Given the description of an element on the screen output the (x, y) to click on. 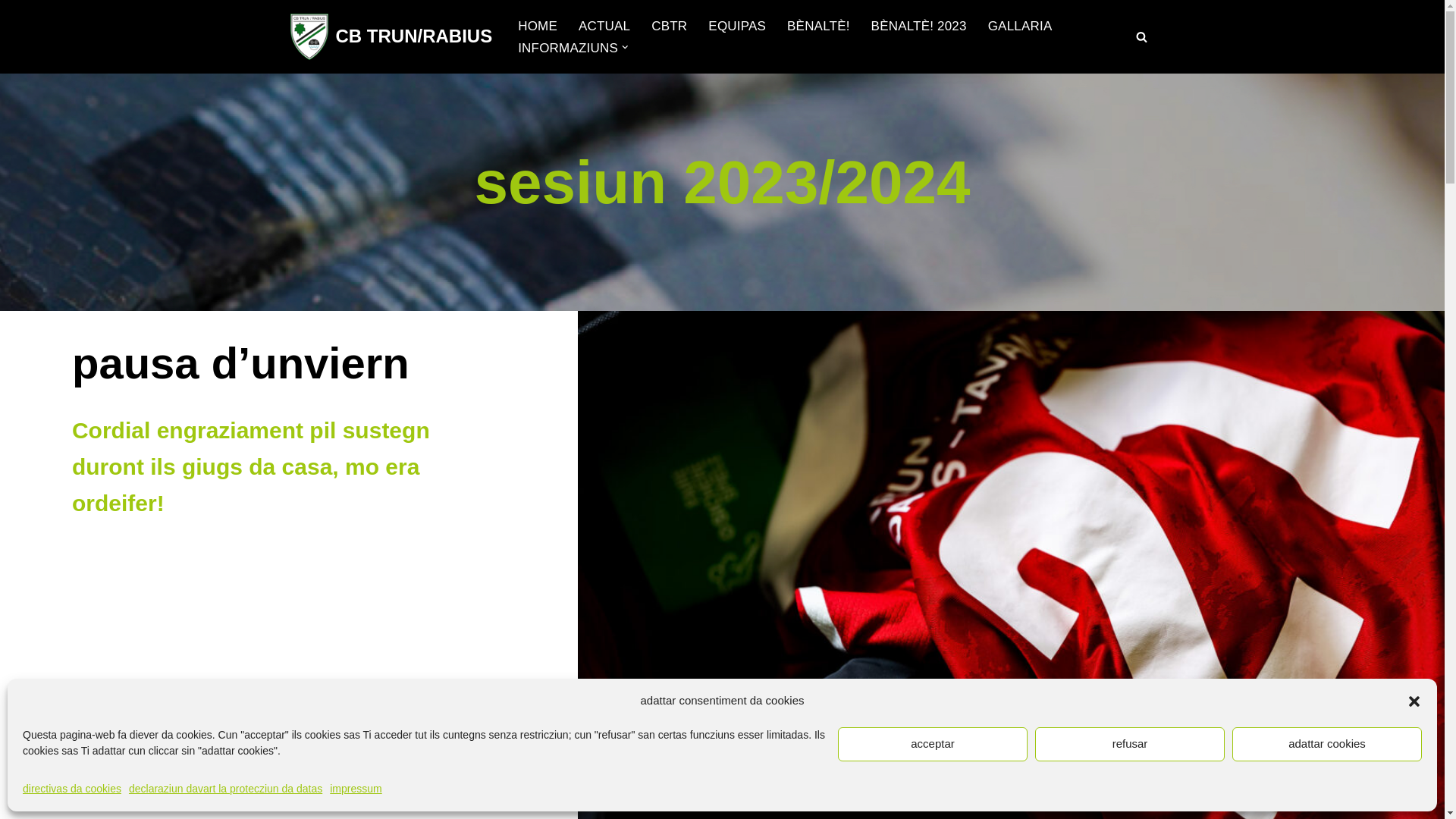
INFORMAZIUNS Element type: text (567, 47)
CBTR Element type: text (669, 25)
ACTUAL Element type: text (604, 25)
declaraziun davart la protecziun da datas Element type: text (225, 789)
impressum Element type: text (355, 789)
directivas da cookies Element type: text (71, 789)
GALLARIA Element type: text (1020, 25)
adattar cookies Element type: text (1326, 744)
refusar Element type: text (1129, 744)
Zum Inhalt Element type: text (11, 31)
acceptar Element type: text (932, 744)
CB TRUN/RABIUS Element type: text (390, 36)
HOME Element type: text (537, 25)
EQUIPAS Element type: text (736, 25)
